Given the description of an element on the screen output the (x, y) to click on. 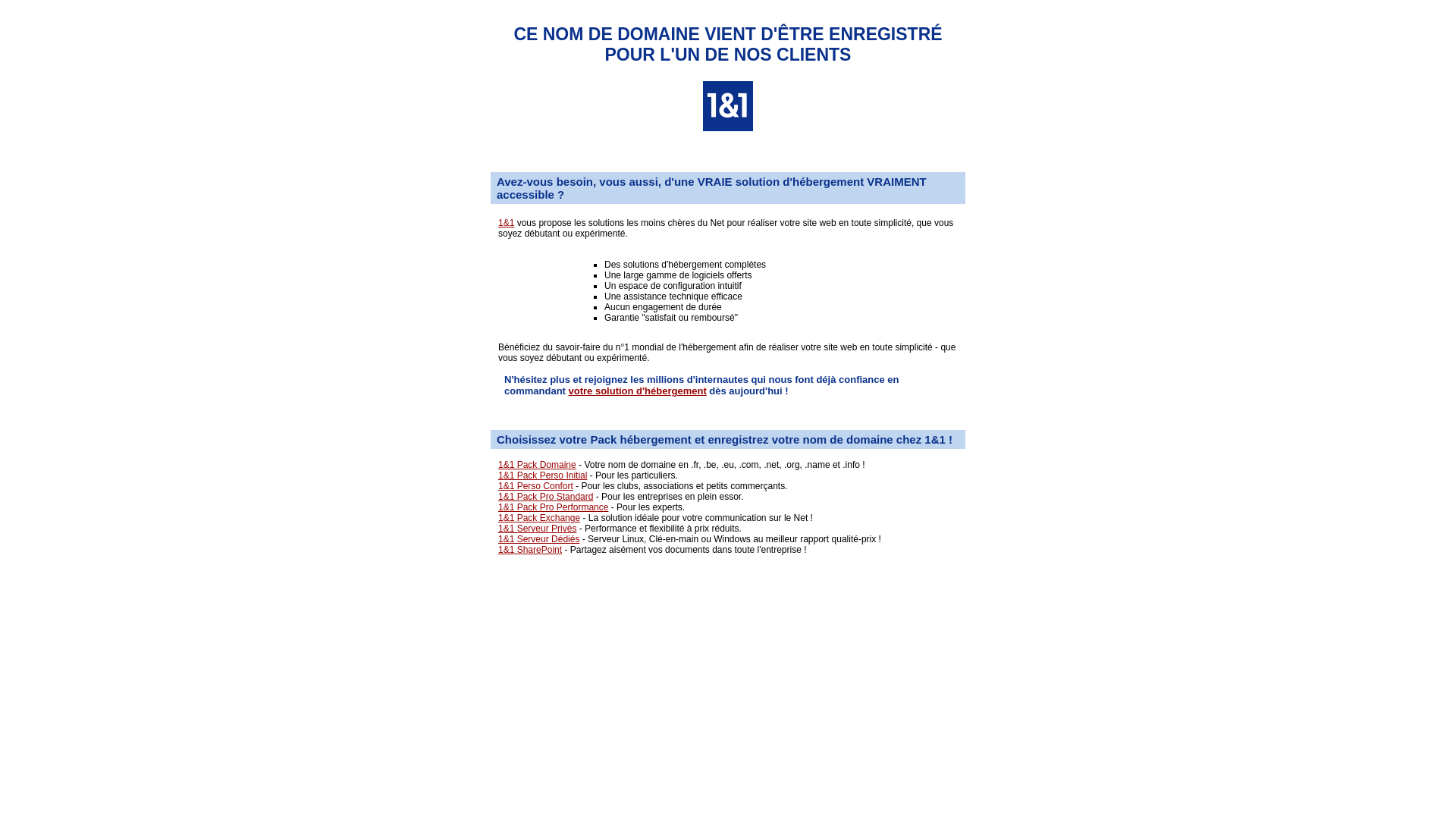
1&1 Pack Perso Initial Element type: text (542, 475)
1&1 Pack Pro Standard Element type: text (545, 496)
1&1 Perso Confort Element type: text (535, 485)
1&1 Pack Domaine Element type: text (537, 464)
1&1 Pack Pro Performance Element type: text (553, 507)
1&1 Element type: text (506, 222)
1&1 SharePoint Element type: text (529, 549)
1&1 Pack Exchange Element type: text (539, 517)
